Given the description of an element on the screen output the (x, y) to click on. 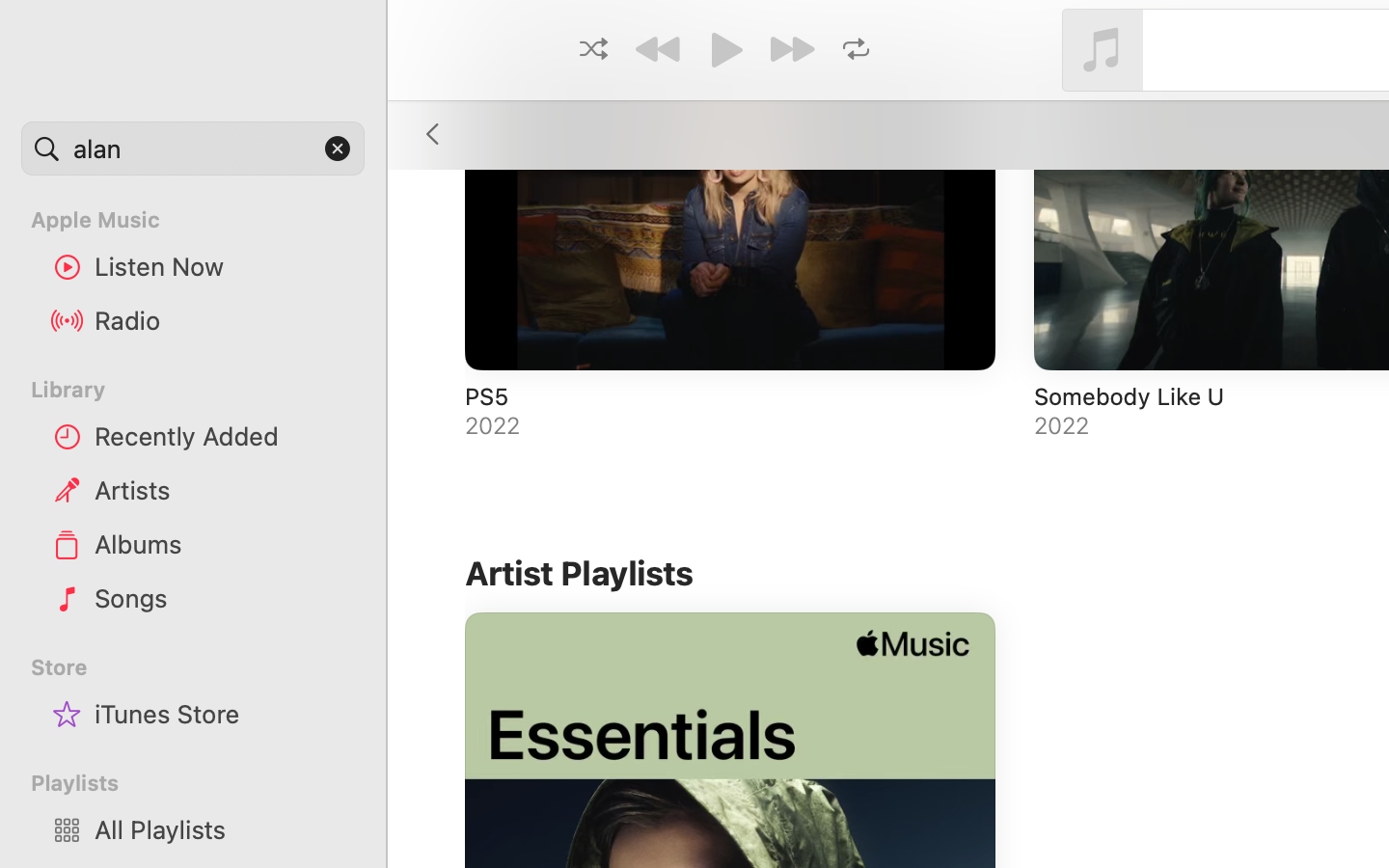
alan Element type: AXTextField (192, 148)
Songs Element type: AXStaticText (222, 597)
All Playlists Element type: AXStaticText (222, 828)
